Given the description of an element on the screen output the (x, y) to click on. 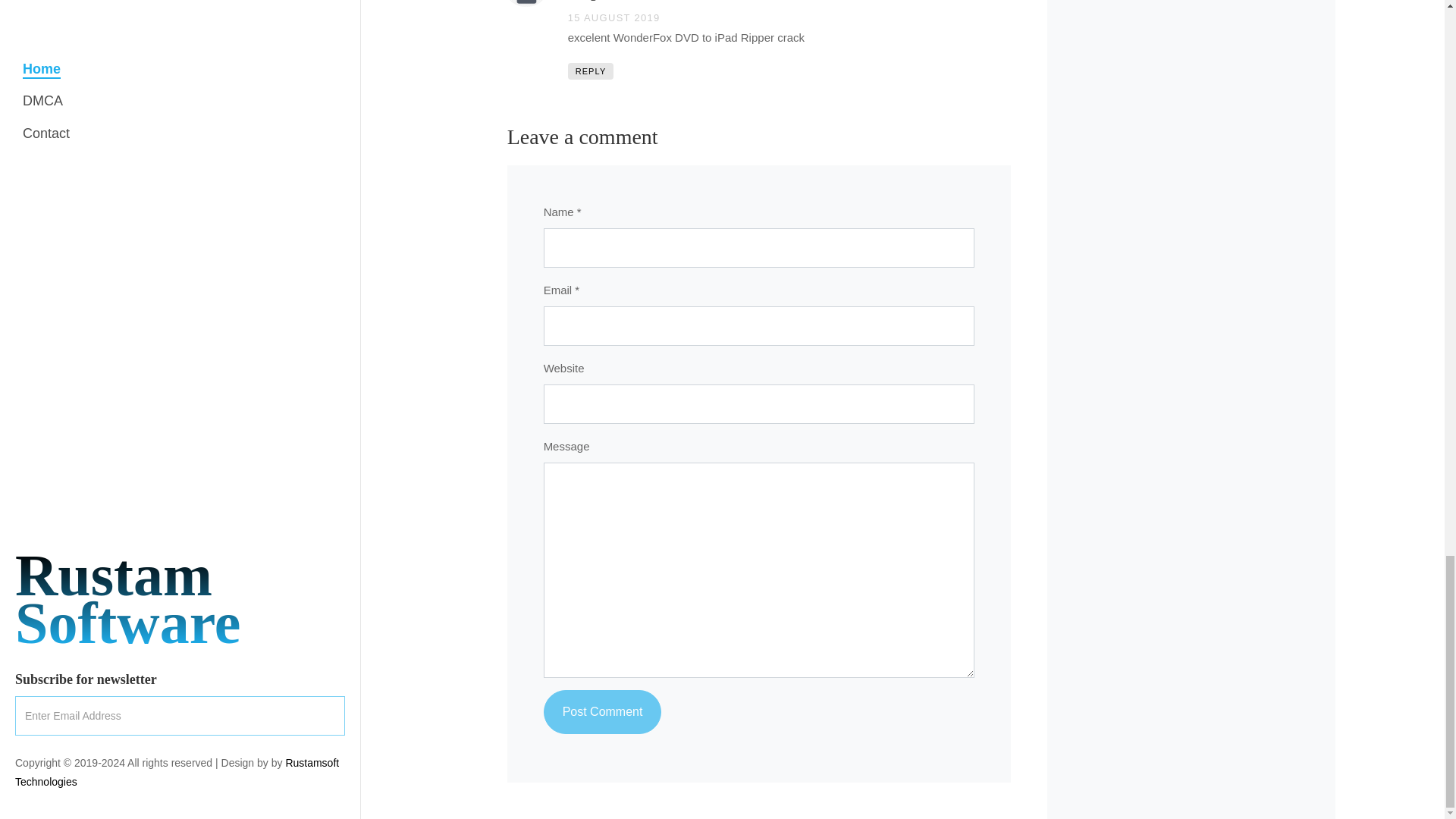
REPLY (590, 71)
Post Comment (602, 711)
Post Comment (602, 711)
